Given the description of an element on the screen output the (x, y) to click on. 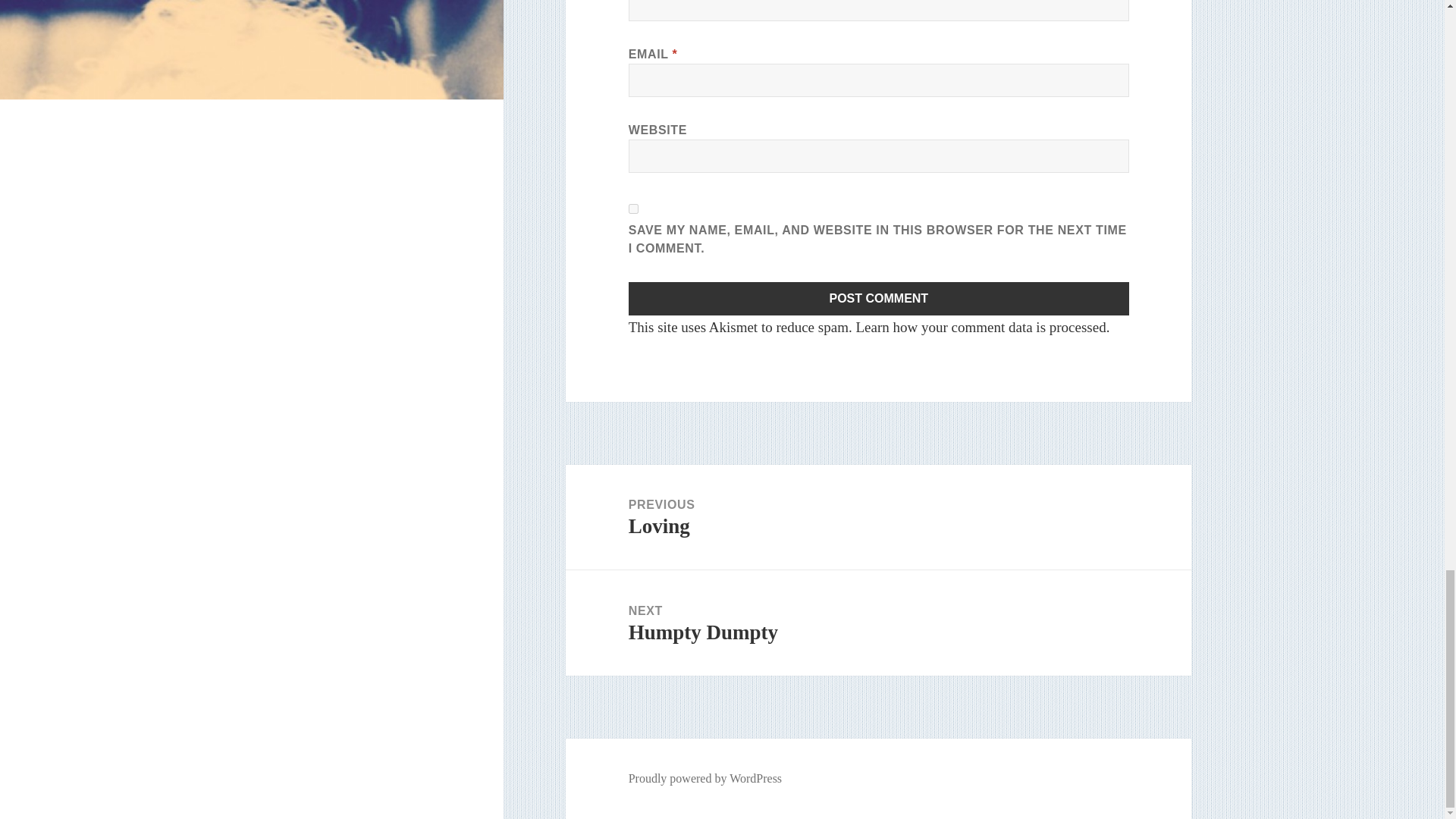
yes (878, 622)
Post Comment (633, 208)
Post Comment (878, 517)
Proudly powered by WordPress (878, 298)
Learn how your comment data is processed (878, 298)
